Given the description of an element on the screen output the (x, y) to click on. 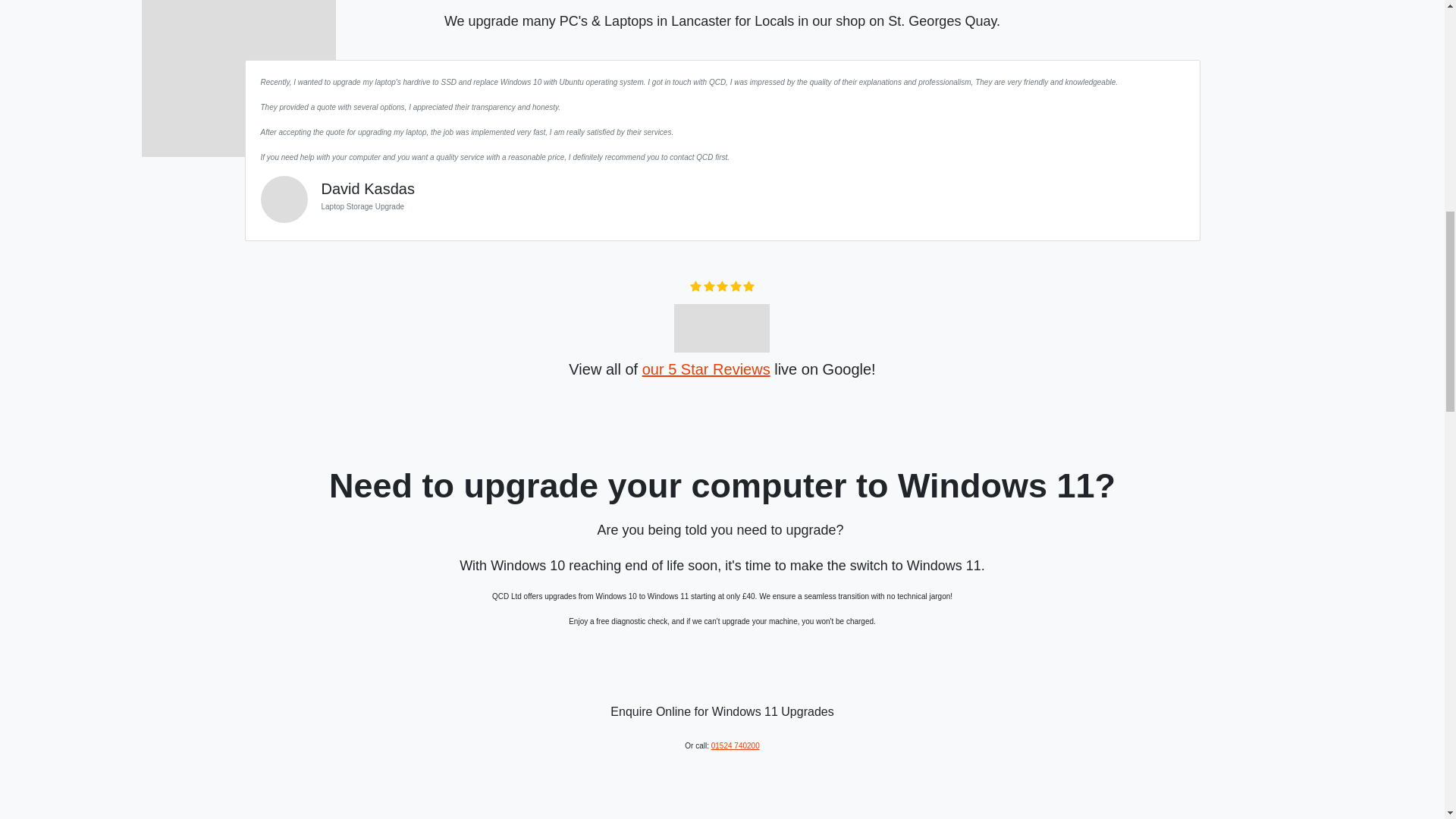
our 5 Star Reviews (706, 369)
01524 740200 (735, 746)
Enquire Online for Windows 11 Upgrades (721, 711)
